Given the description of an element on the screen output the (x, y) to click on. 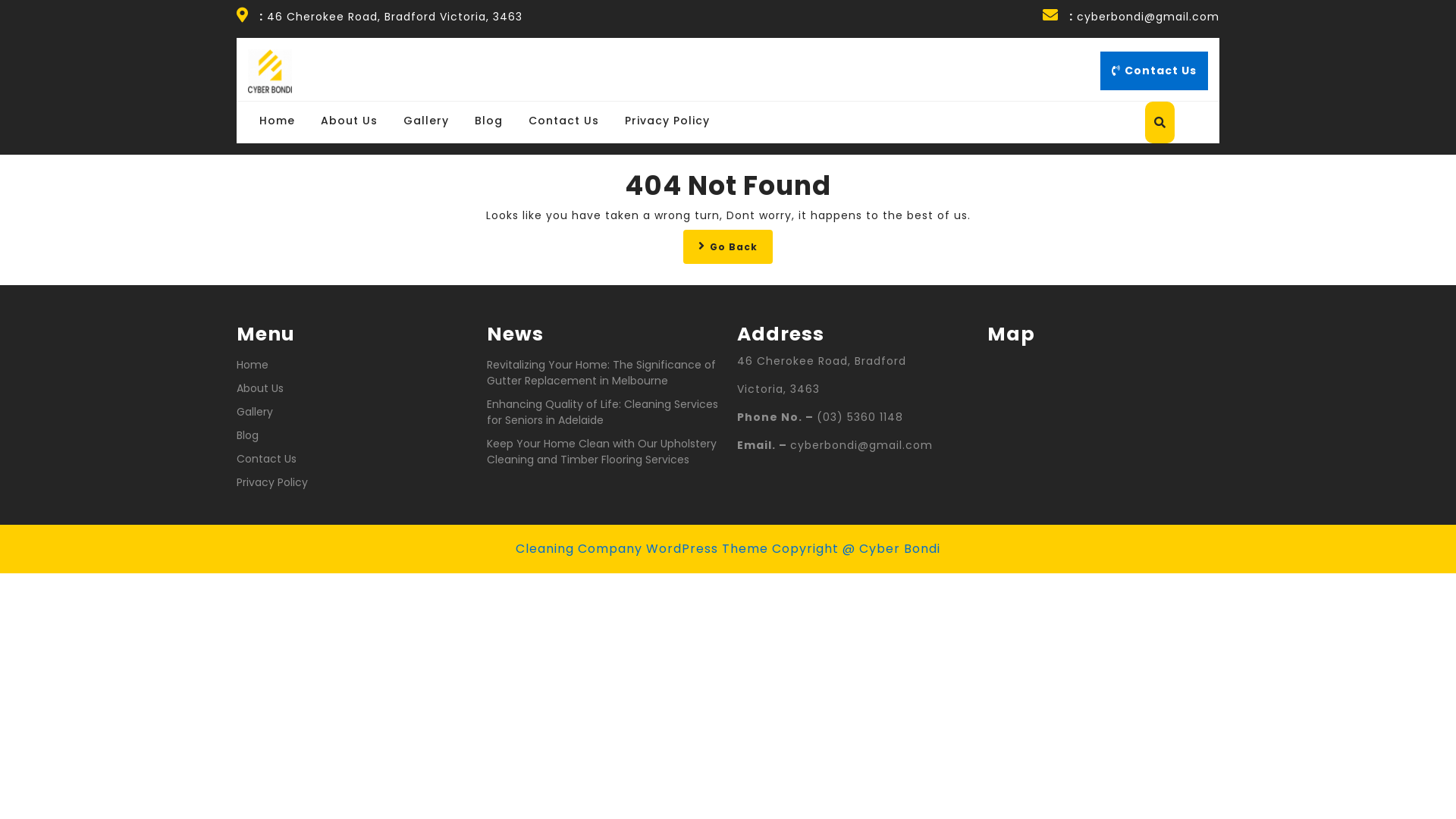
Home Element type: text (252, 363)
cyberbondi@gmail.com Element type: text (1147, 16)
Privacy Policy Element type: text (271, 481)
Home Element type: text (276, 120)
Gallery Element type: text (425, 120)
Blog Element type: text (488, 120)
About Us Element type: text (259, 387)
Contact Us
Appointment Button Element type: text (1154, 70)
Contact Us Element type: text (563, 120)
Cleaning Company WordPress Theme Element type: text (641, 548)
Contact Us Element type: text (266, 457)
Blog Element type: text (247, 434)
Privacy Policy Element type: text (666, 120)
About Us Element type: text (348, 120)
Go Back
Go Back Element type: text (727, 246)
Gallery Element type: text (254, 410)
